Given the description of an element on the screen output the (x, y) to click on. 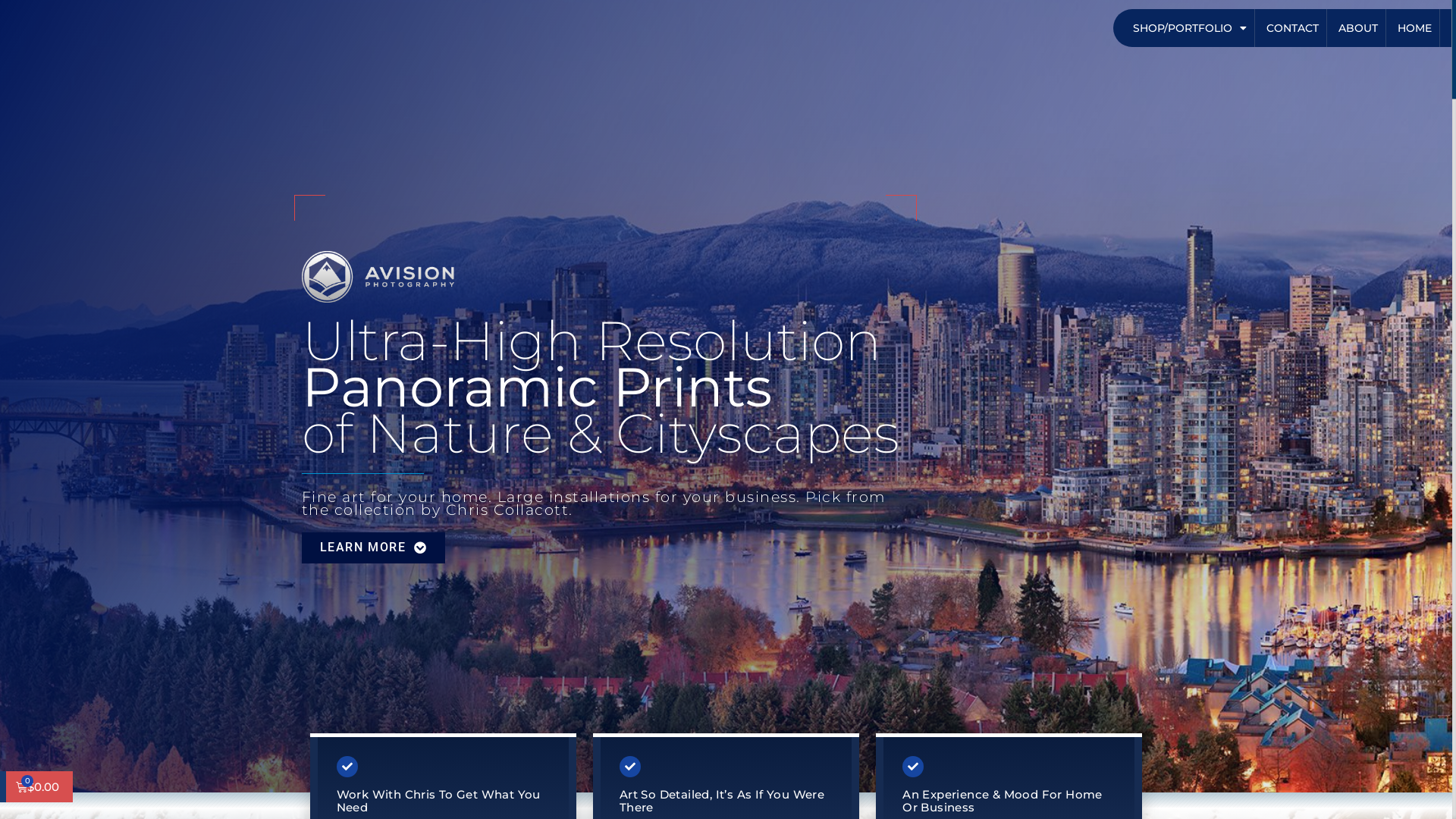
SHOP/PORTFOLIO Element type: text (1192, 28)
ABOUT Element type: text (1360, 28)
CONTACT Element type: text (1294, 28)
HOME Element type: text (1416, 28)
LEARN MORE Element type: text (373, 547)
$0.00 Element type: text (39, 786)
